Given the description of an element on the screen output the (x, y) to click on. 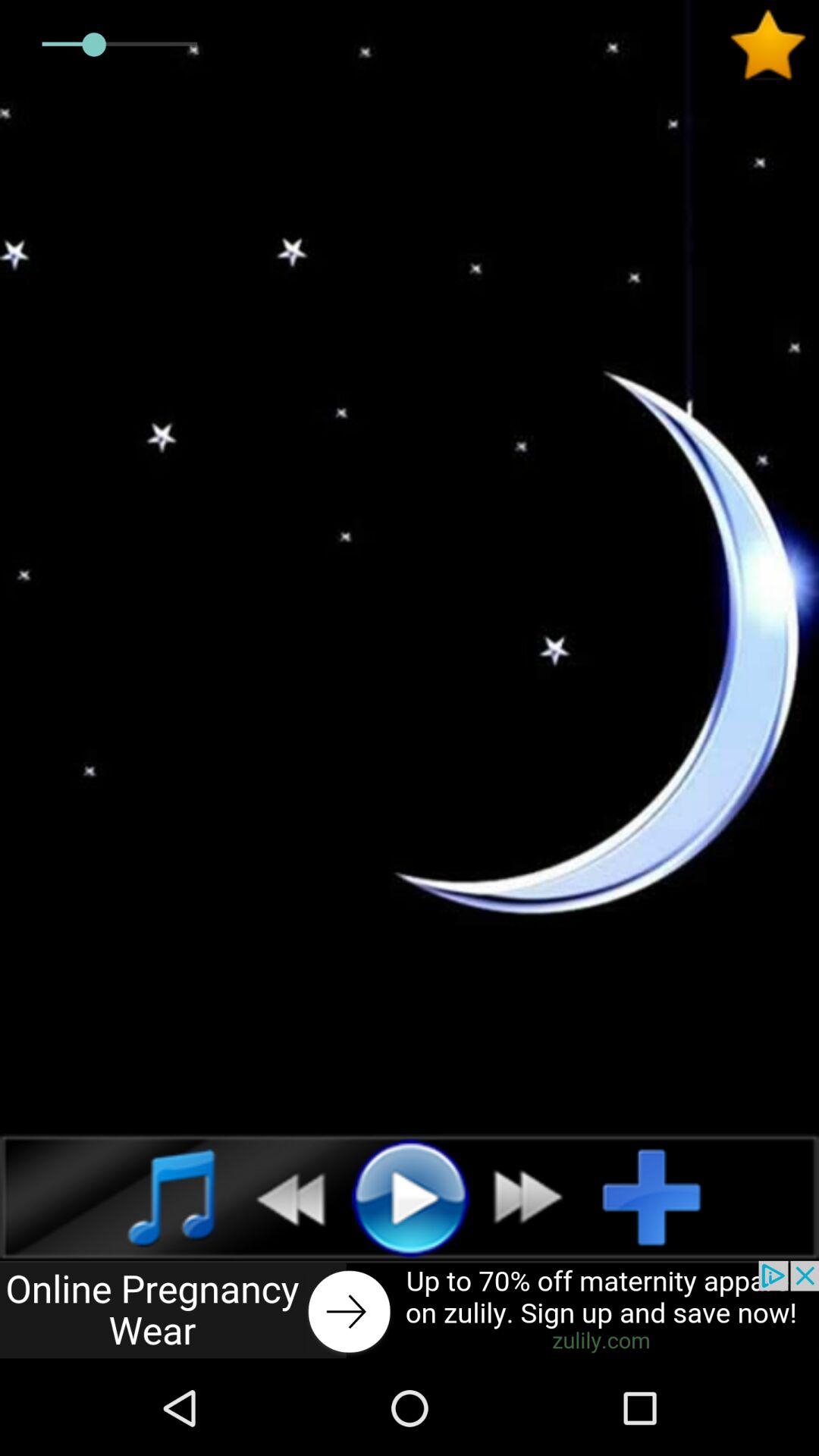
view advertisement (409, 1310)
